Given the description of an element on the screen output the (x, y) to click on. 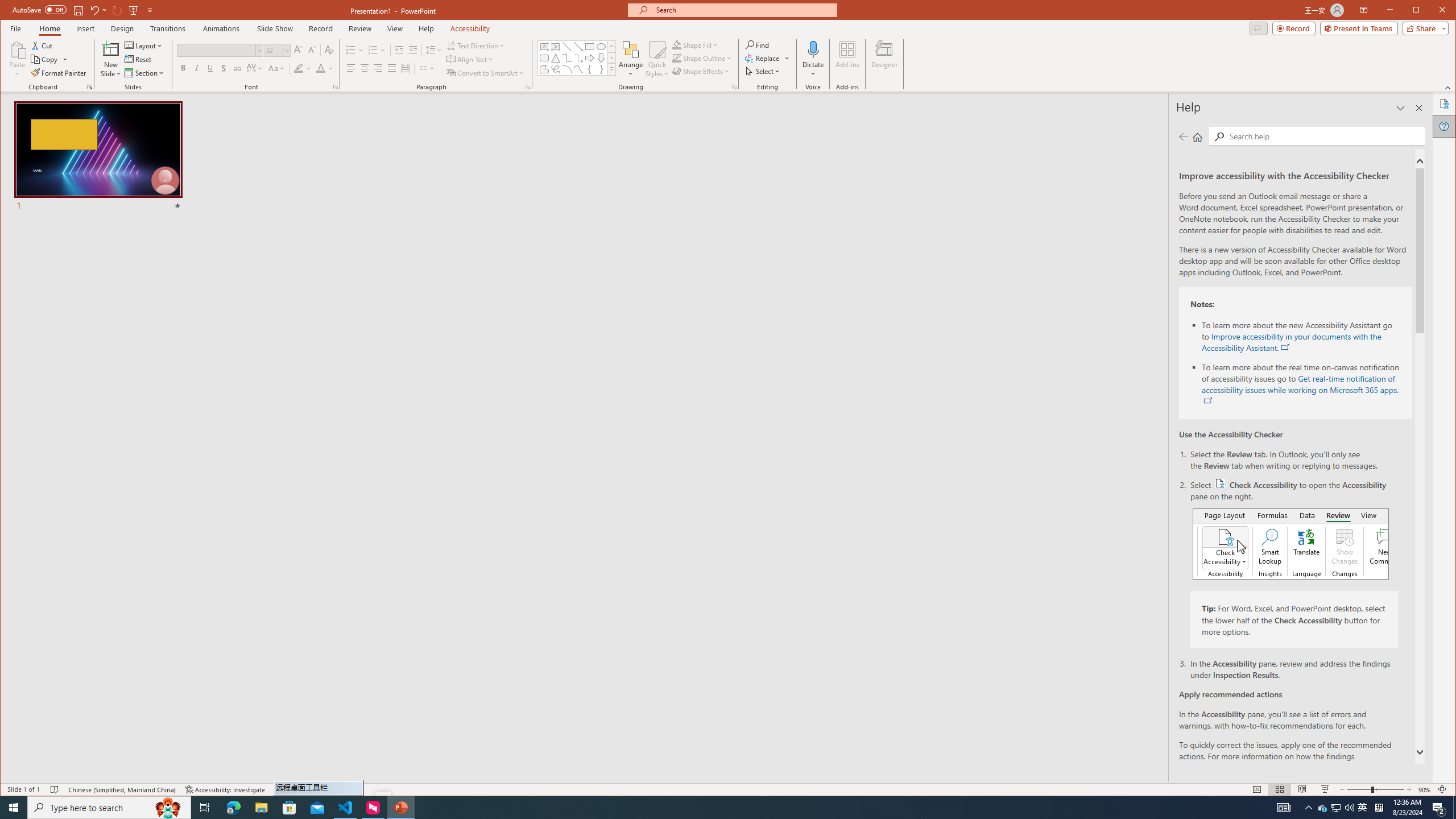
Distributed (405, 68)
Previous page (1183, 136)
Change Case (276, 68)
Arc (567, 69)
Quick Styles (658, 59)
Increase Font Size (297, 49)
Isosceles Triangle (556, 57)
Font Color Red (320, 68)
